Given the description of an element on the screen output the (x, y) to click on. 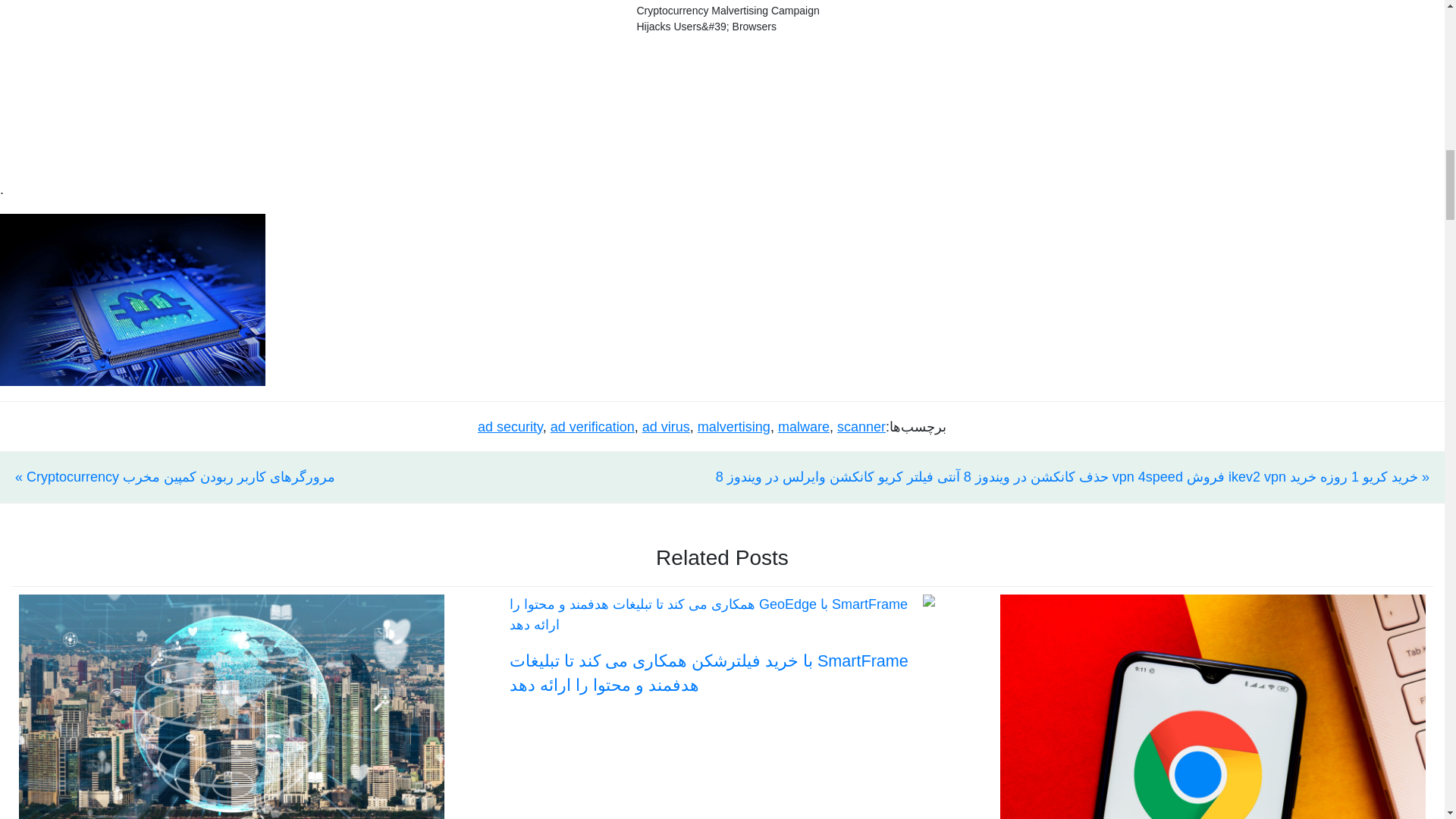
malware (803, 426)
blog (132, 299)
ad security (510, 426)
malvertising (733, 426)
ad verification (592, 426)
blog (132, 298)
scanner (861, 426)
ad virus (666, 426)
